Given the description of an element on the screen output the (x, y) to click on. 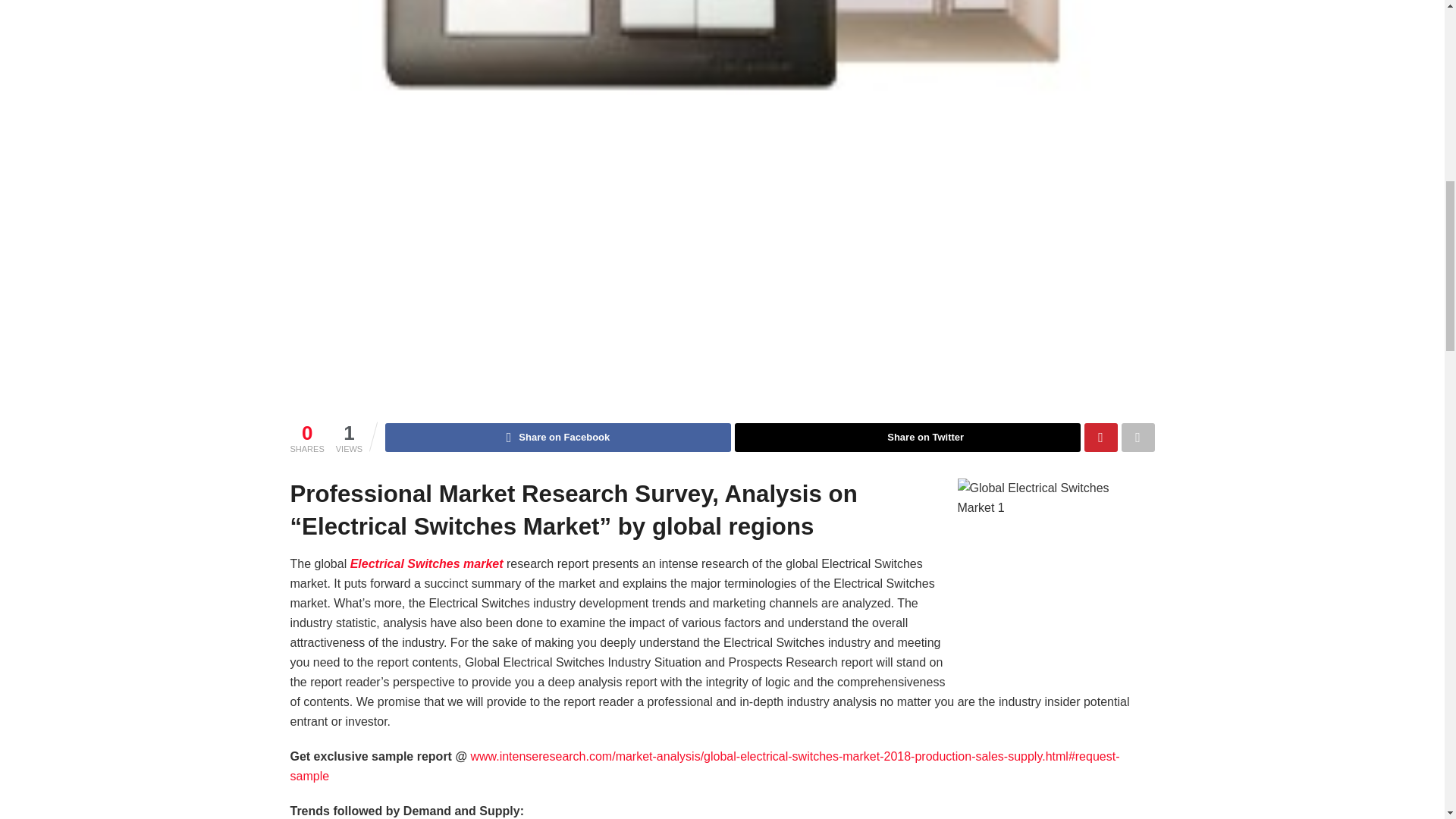
Share on Twitter (907, 437)
Share on Facebook (557, 437)
